Given the description of an element on the screen output the (x, y) to click on. 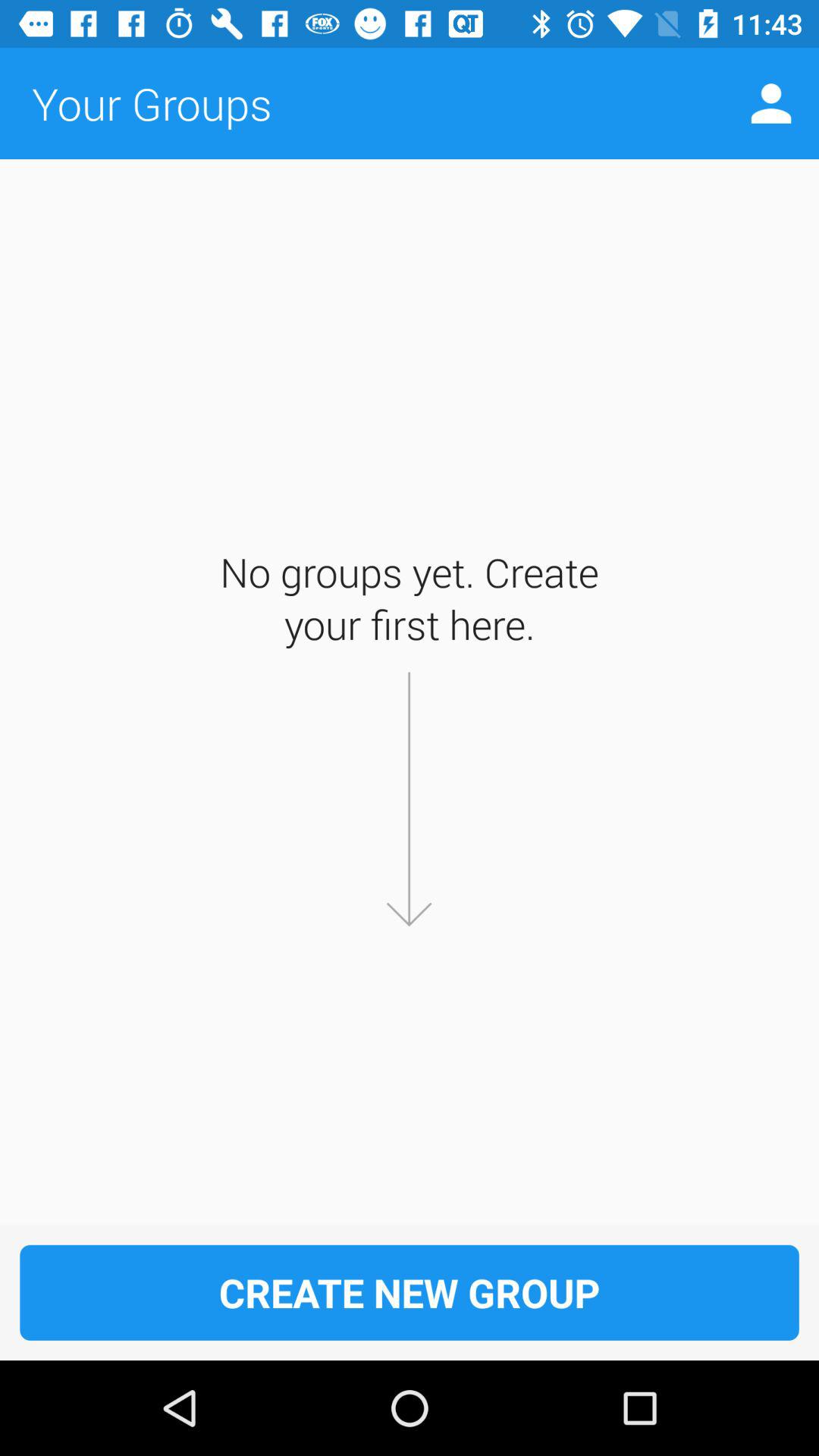
turn on item next to your groups item (771, 103)
